Given the description of an element on the screen output the (x, y) to click on. 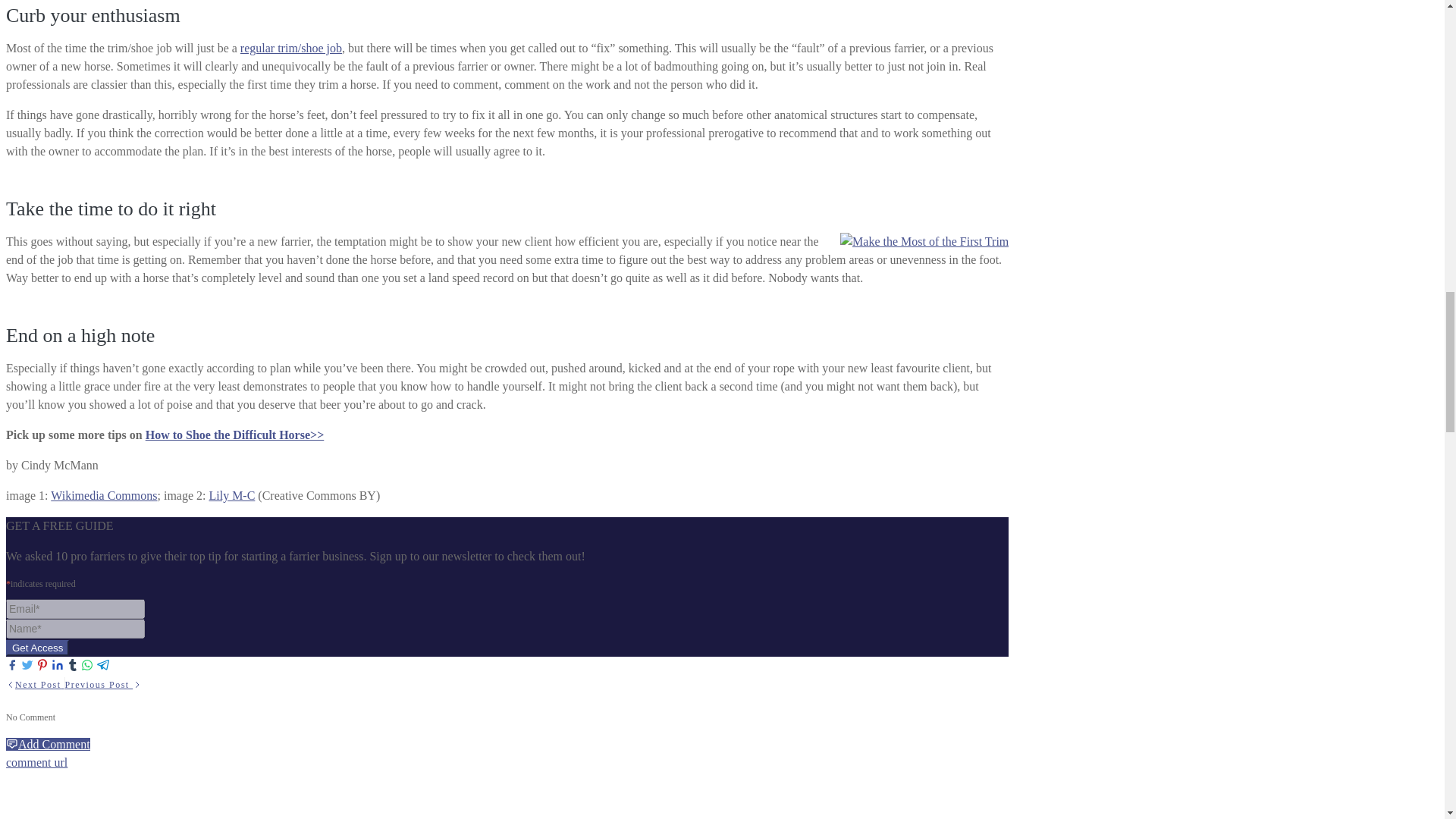
Pin It (42, 665)
Linkedin Share (57, 665)
Share to telegram (103, 665)
Tweet This (27, 665)
Tumblr Share (72, 665)
Facebook Share (11, 665)
Share to whatsapp (87, 665)
